Given the description of an element on the screen output the (x, y) to click on. 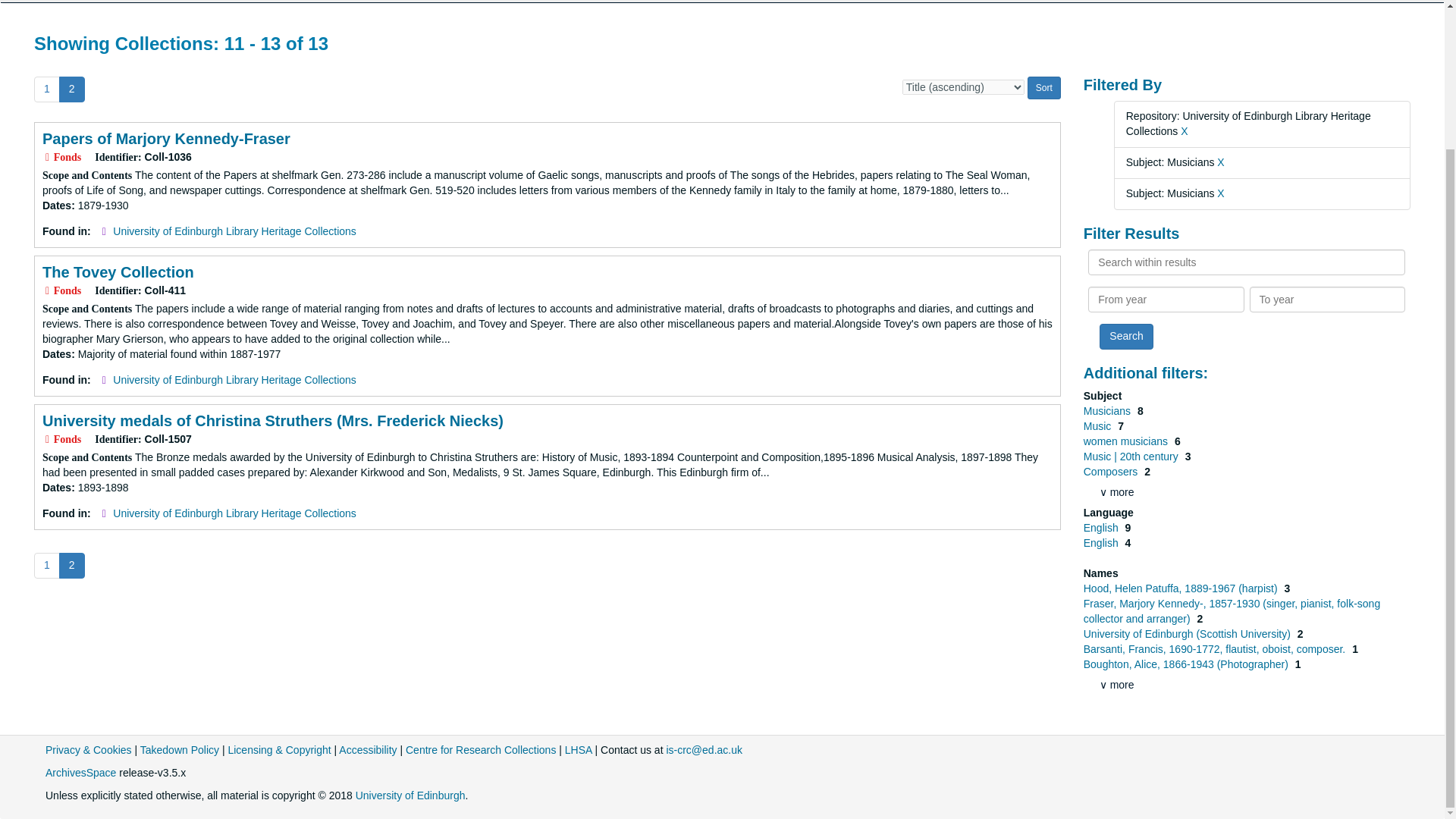
Names (579, 1)
1 (46, 89)
Search (1126, 336)
Musicians (1108, 410)
Filter By 'Composers' (1111, 471)
Subjects (513, 1)
2 (71, 565)
Composers (1111, 471)
Collections (181, 1)
Repositories (95, 1)
University of Edinburgh Library Heritage Collections (234, 512)
Sort (1044, 87)
Digital Materials (276, 1)
women musicians (1126, 440)
Filter By 'Musicians' (1108, 410)
